Given the description of an element on the screen output the (x, y) to click on. 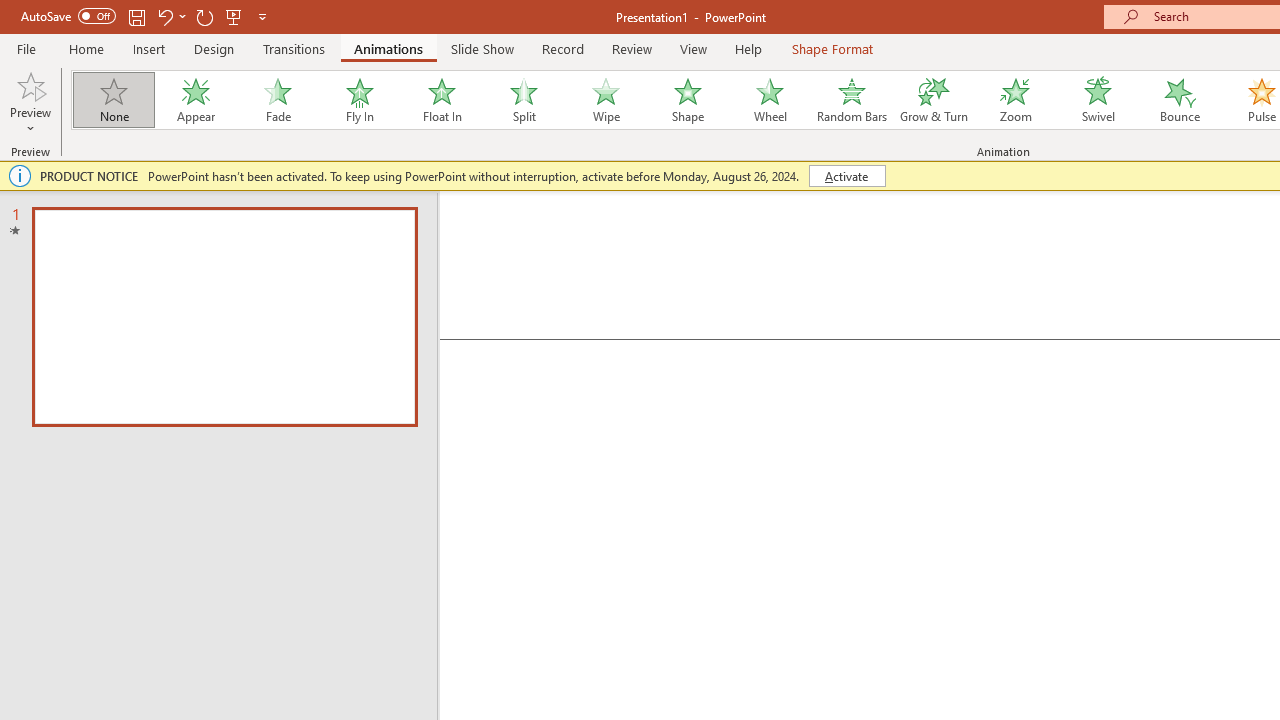
Split (523, 100)
None (113, 100)
Shape (687, 100)
Random Bars (852, 100)
Activate (846, 175)
Wheel (770, 100)
